Given the description of an element on the screen output the (x, y) to click on. 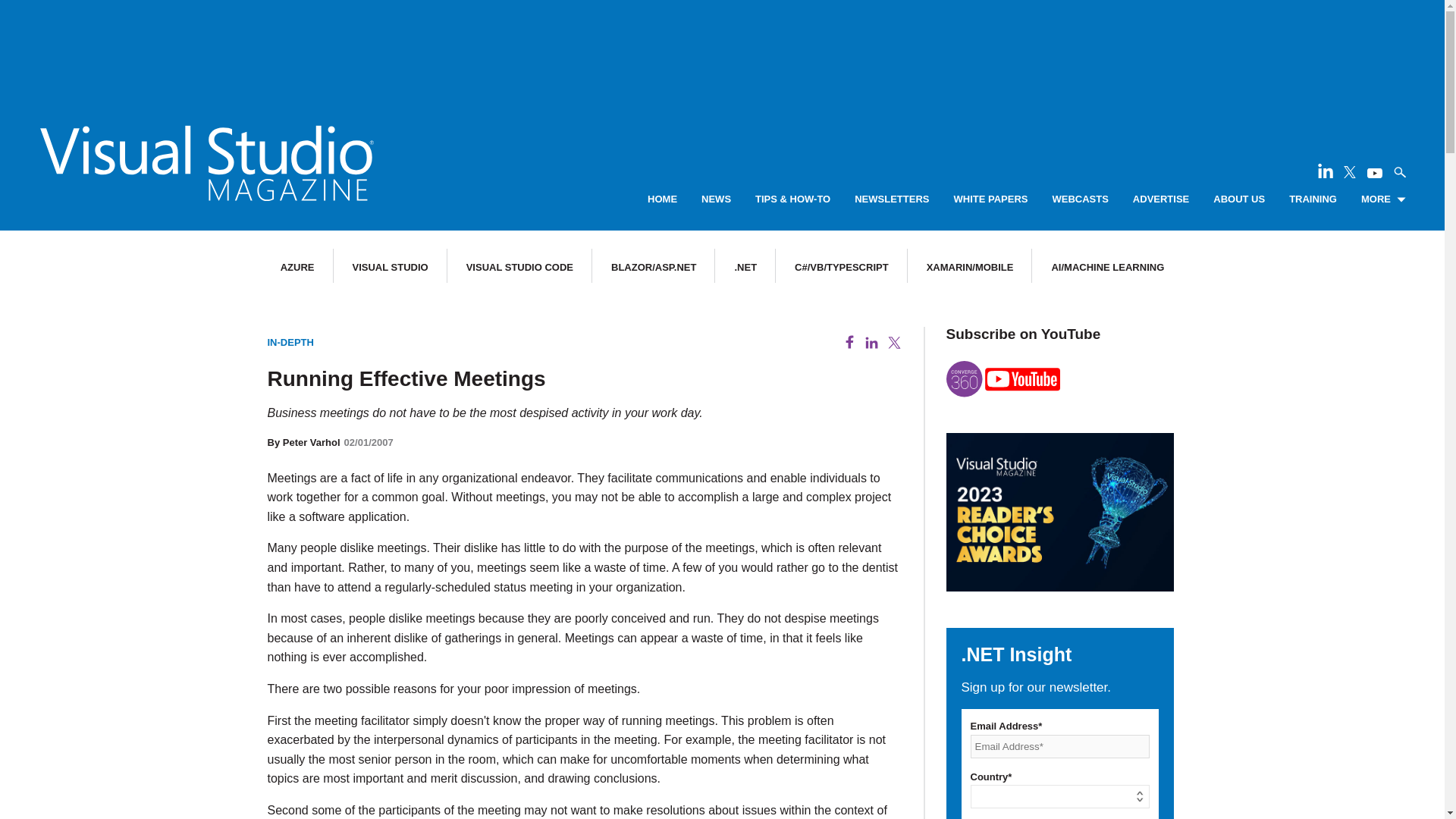
ADVERTISE (1160, 199)
NEWSLETTERS (891, 199)
HOME (662, 199)
VISUAL STUDIO (390, 266)
AZURE (297, 266)
.NET (745, 266)
VISUAL STUDIO CODE (519, 266)
TRAINING (1312, 199)
3rd party ad content (721, 45)
MORE (1383, 199)
WHITE PAPERS (990, 199)
WEBCASTS (1079, 199)
NEWS (715, 199)
ABOUT US (1238, 199)
